Given the description of an element on the screen output the (x, y) to click on. 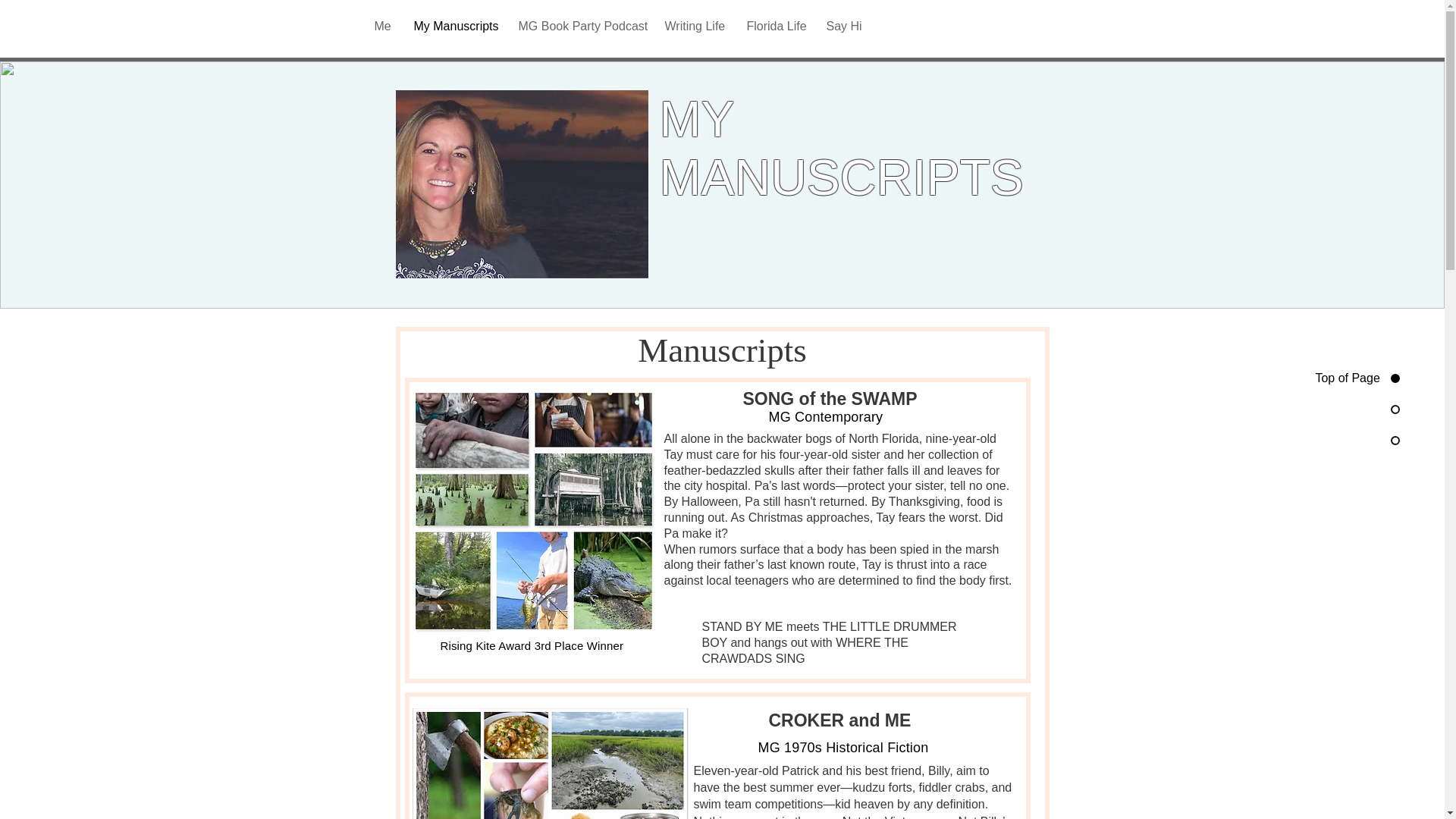
Florida Life (775, 26)
Top of Page (1343, 378)
MG Book Party Podcast (579, 26)
My Manuscripts (453, 26)
Say Hi (842, 26)
Writing Life (694, 26)
Me (381, 26)
